Given the description of an element on the screen output the (x, y) to click on. 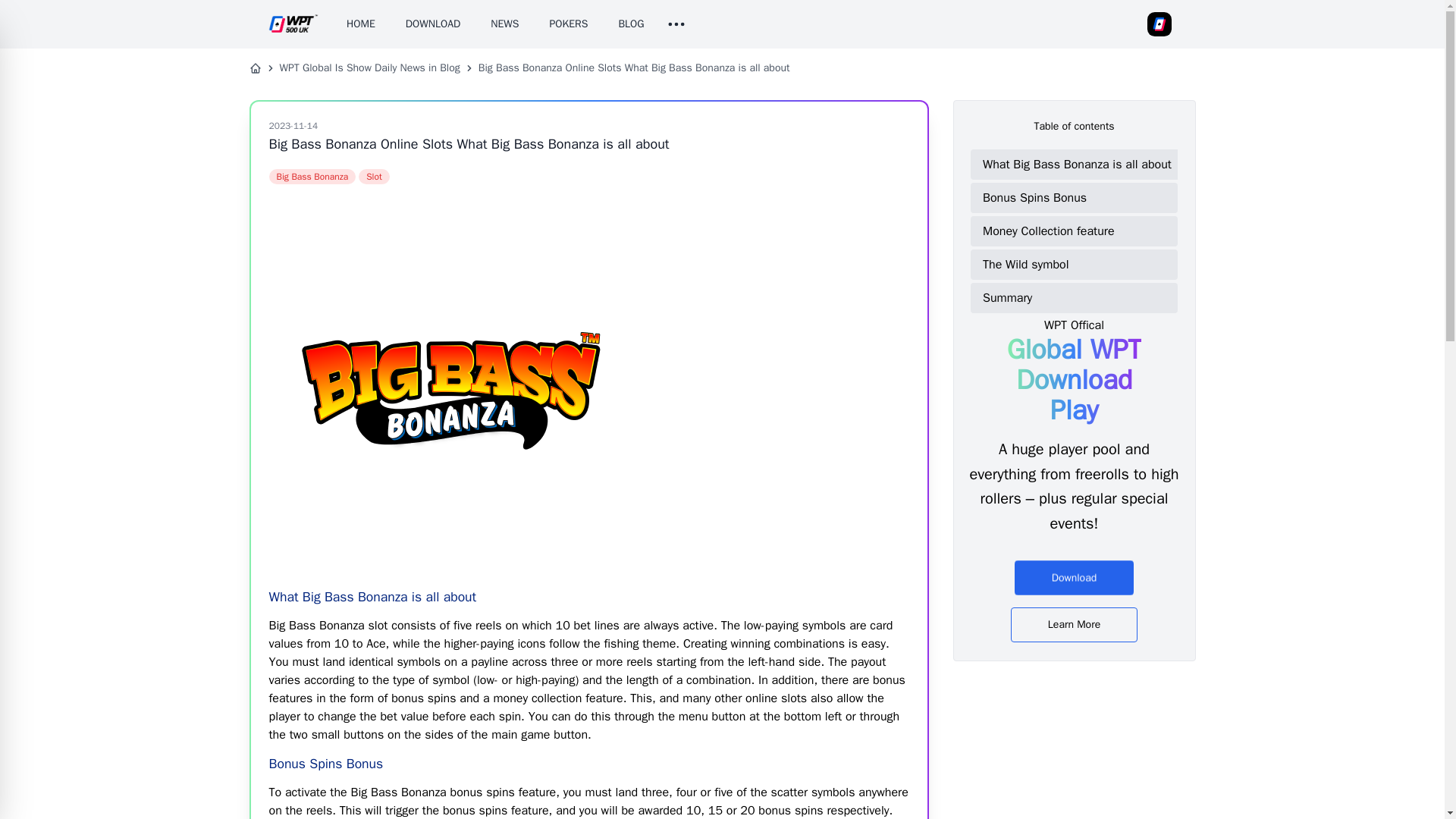
POKERS (568, 23)
Slot (374, 176)
NEWS (504, 23)
DOWNLOAD (432, 23)
Bonus Spins Bonus (1076, 197)
The Wild symbol (1076, 264)
Summary (1076, 297)
Download (1074, 569)
BLOG (630, 23)
Money Collection feature (1076, 231)
Slot (374, 176)
WPT Global Is Show Daily News in Blog (369, 68)
Big Bass Bonanza (311, 176)
